Given the description of an element on the screen output the (x, y) to click on. 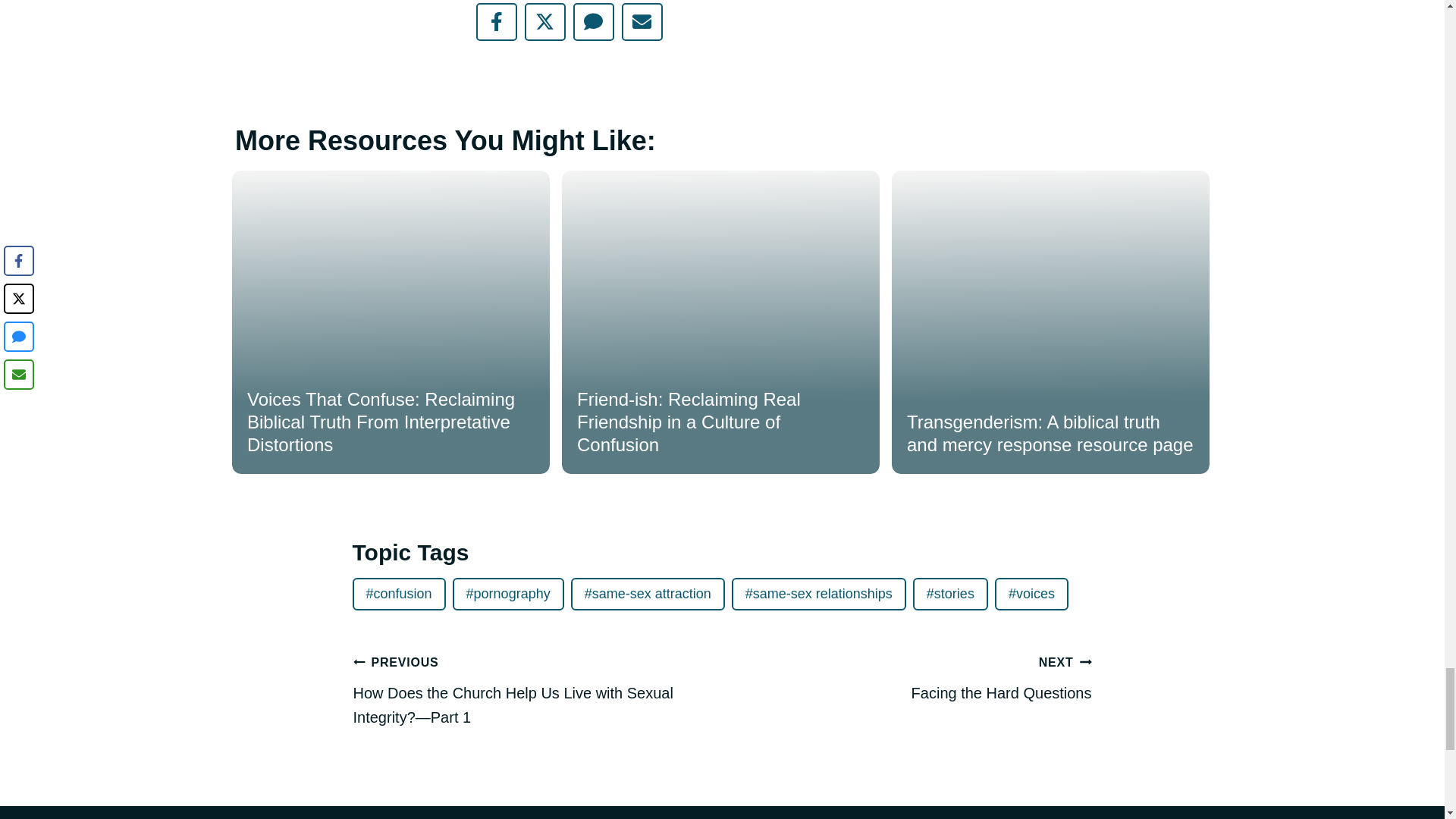
pornography (508, 594)
confusion (398, 594)
same-sex relationships (818, 594)
voices (1031, 594)
stories (950, 594)
same-sex attraction (911, 677)
